Given the description of an element on the screen output the (x, y) to click on. 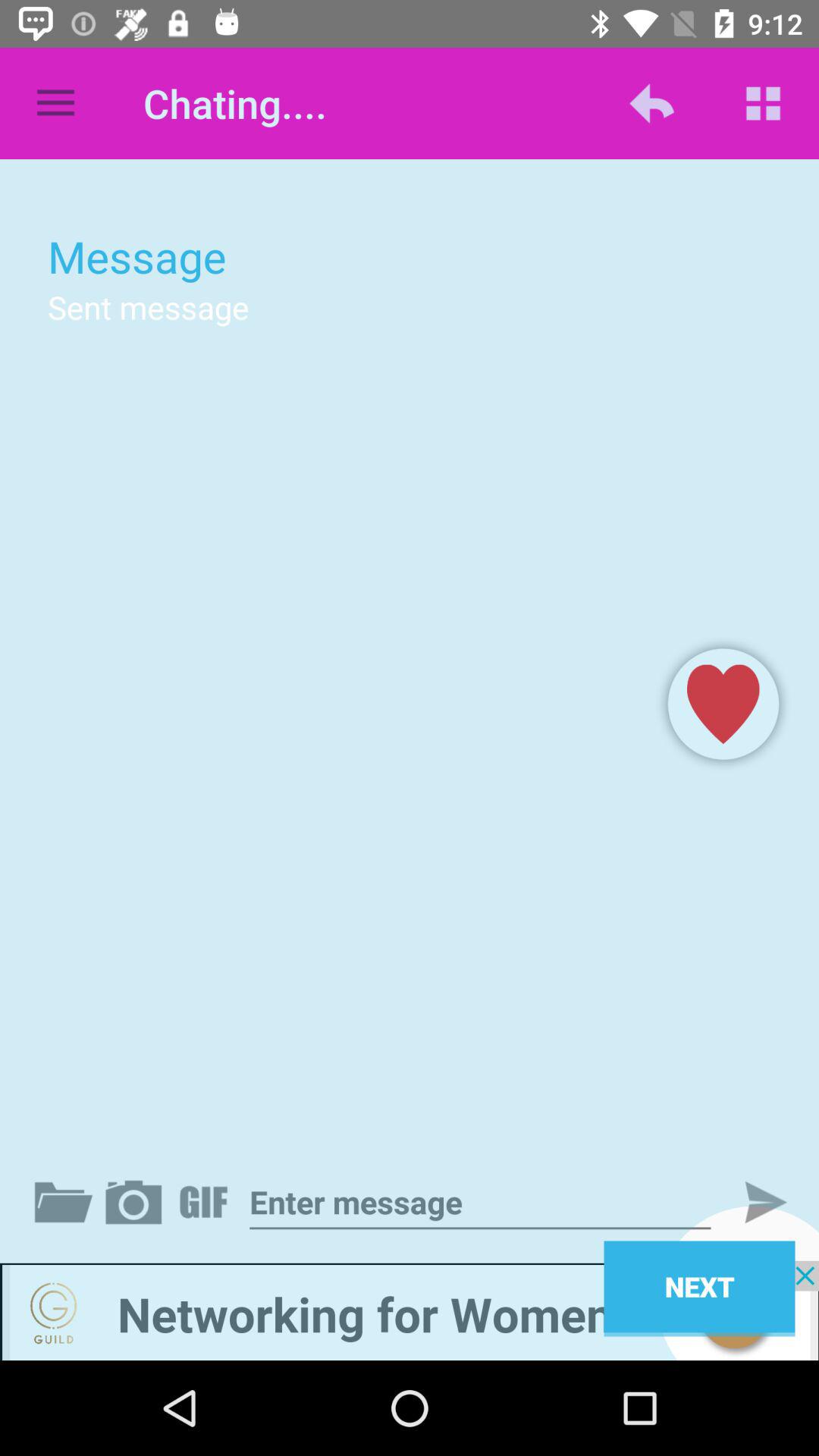
go back (409, 1310)
